Given the description of an element on the screen output the (x, y) to click on. 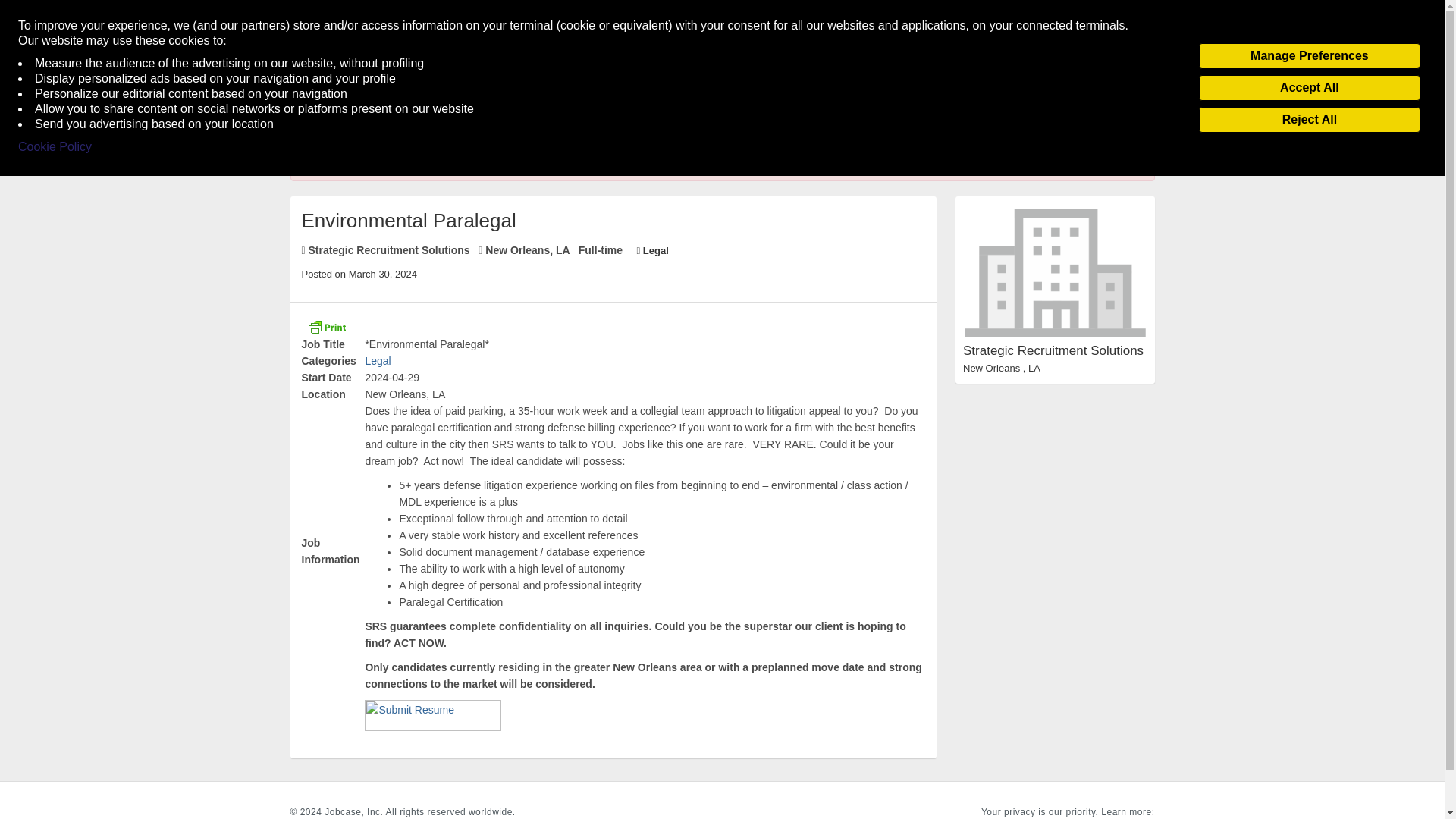
Submit Resume (432, 715)
Reject All (1309, 119)
Manage Preferences (1309, 55)
Legal (377, 360)
Get Job Alerts (342, 96)
Accept All (1309, 87)
Cookie Policy (54, 146)
Back to Results (329, 126)
Employer Login (426, 96)
Want to post a job around Louisiana? (566, 96)
